Given the description of an element on the screen output the (x, y) to click on. 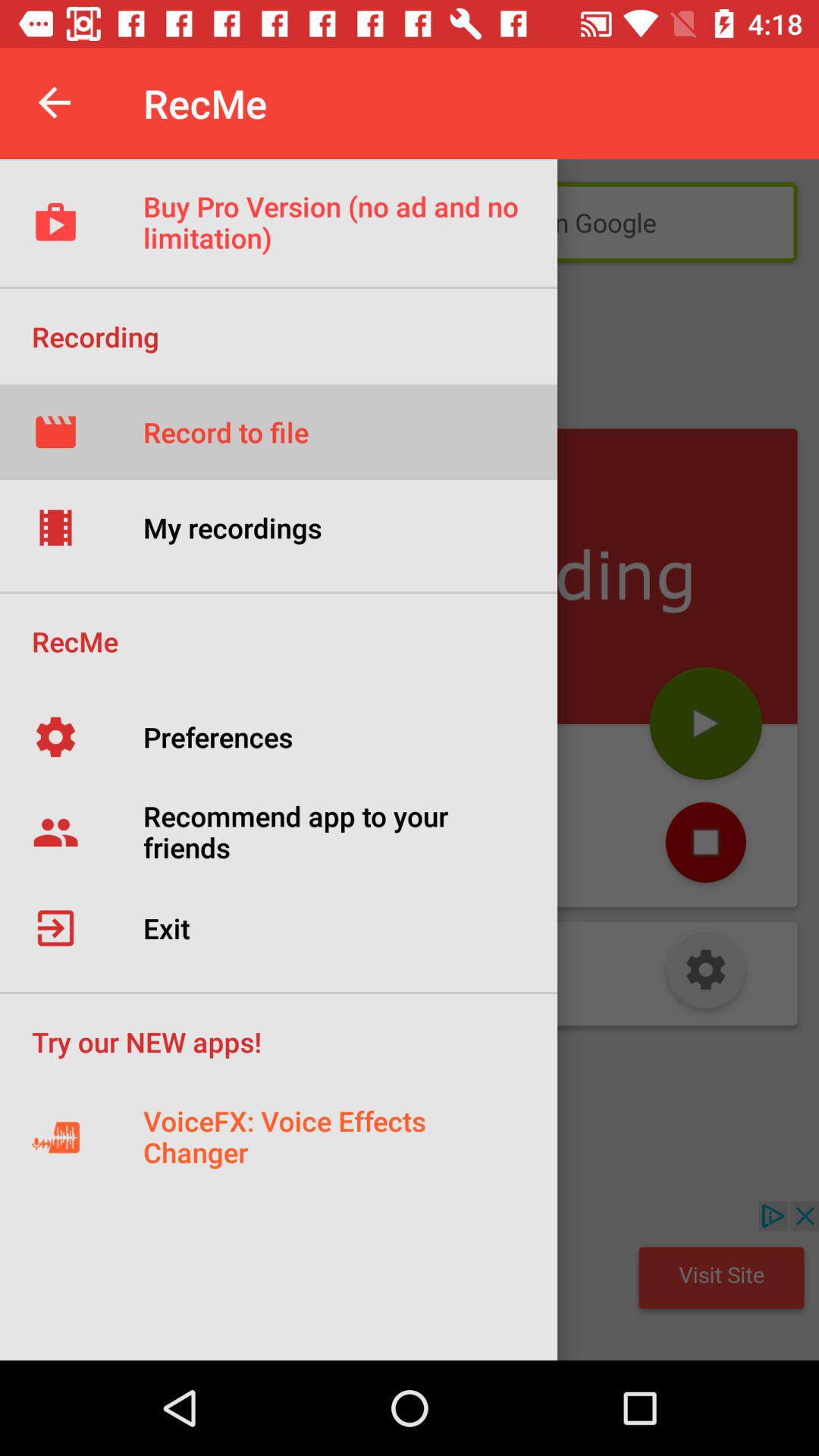
advertisement (409, 1280)
